Given the description of an element on the screen output the (x, y) to click on. 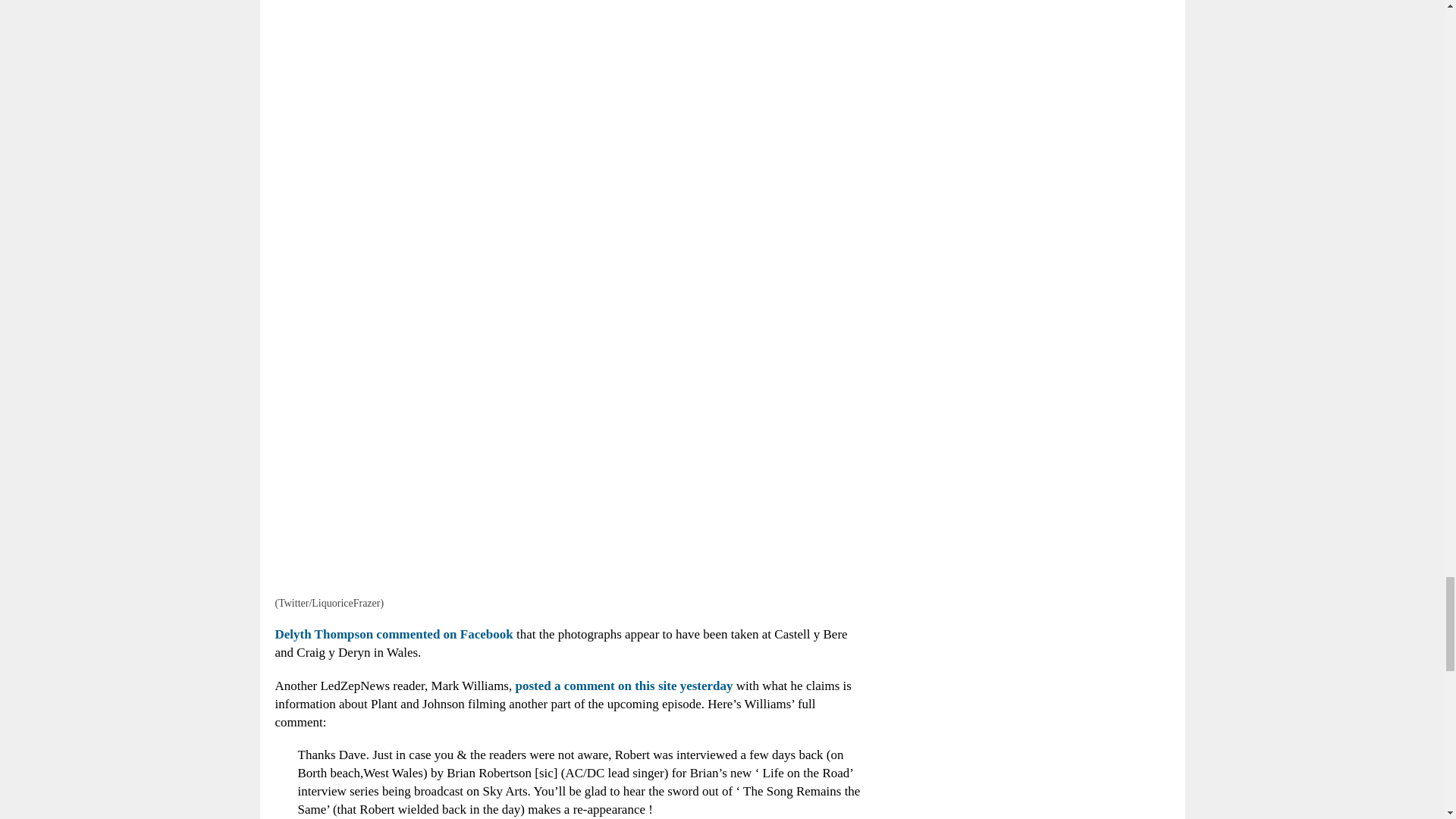
Delyth Thompson commented on Facebook (393, 634)
posted a comment on this site yesterday (622, 685)
